Given the description of an element on the screen output the (x, y) to click on. 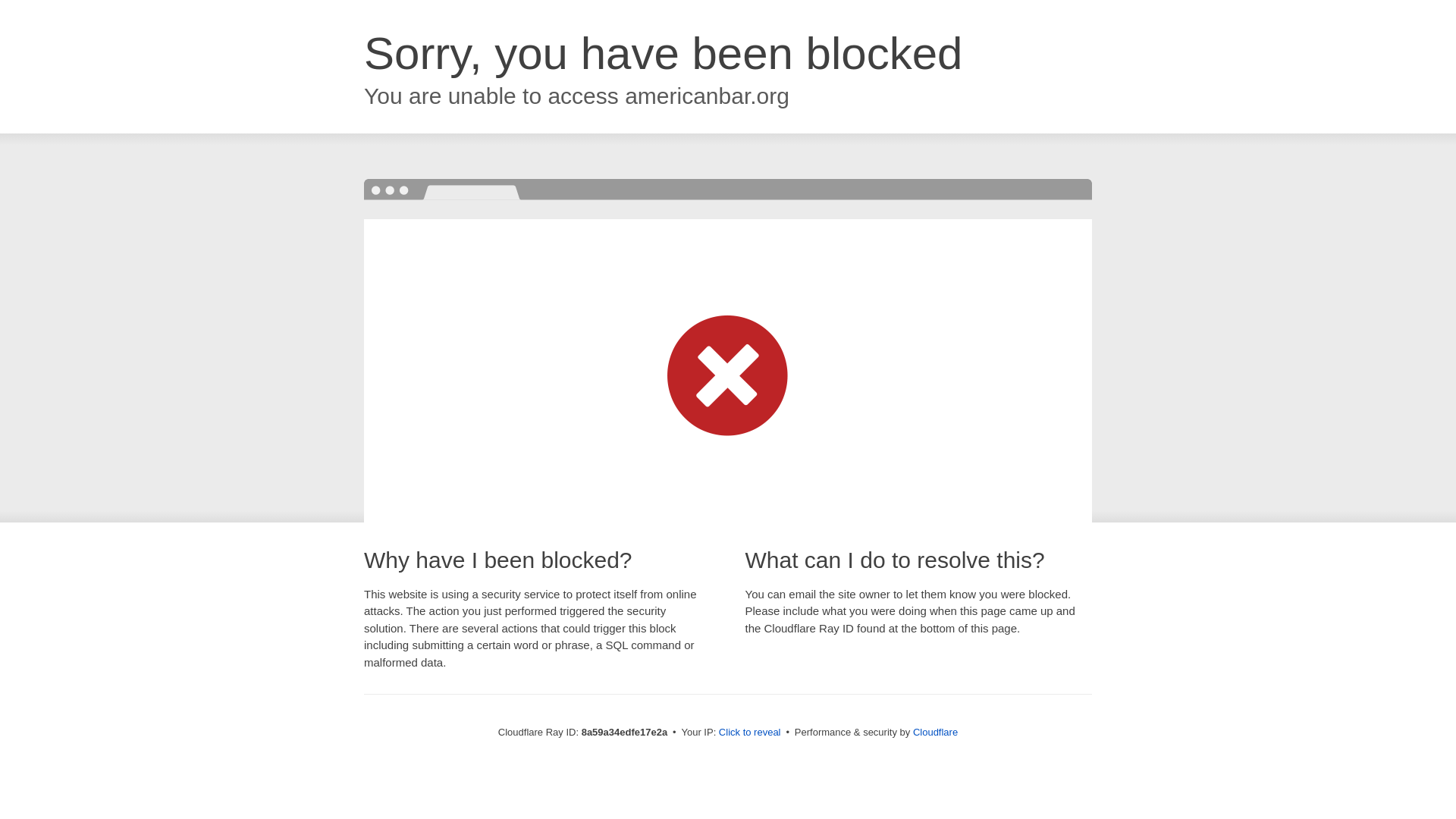
Cloudflare (935, 731)
Click to reveal (749, 732)
